Given the description of an element on the screen output the (x, y) to click on. 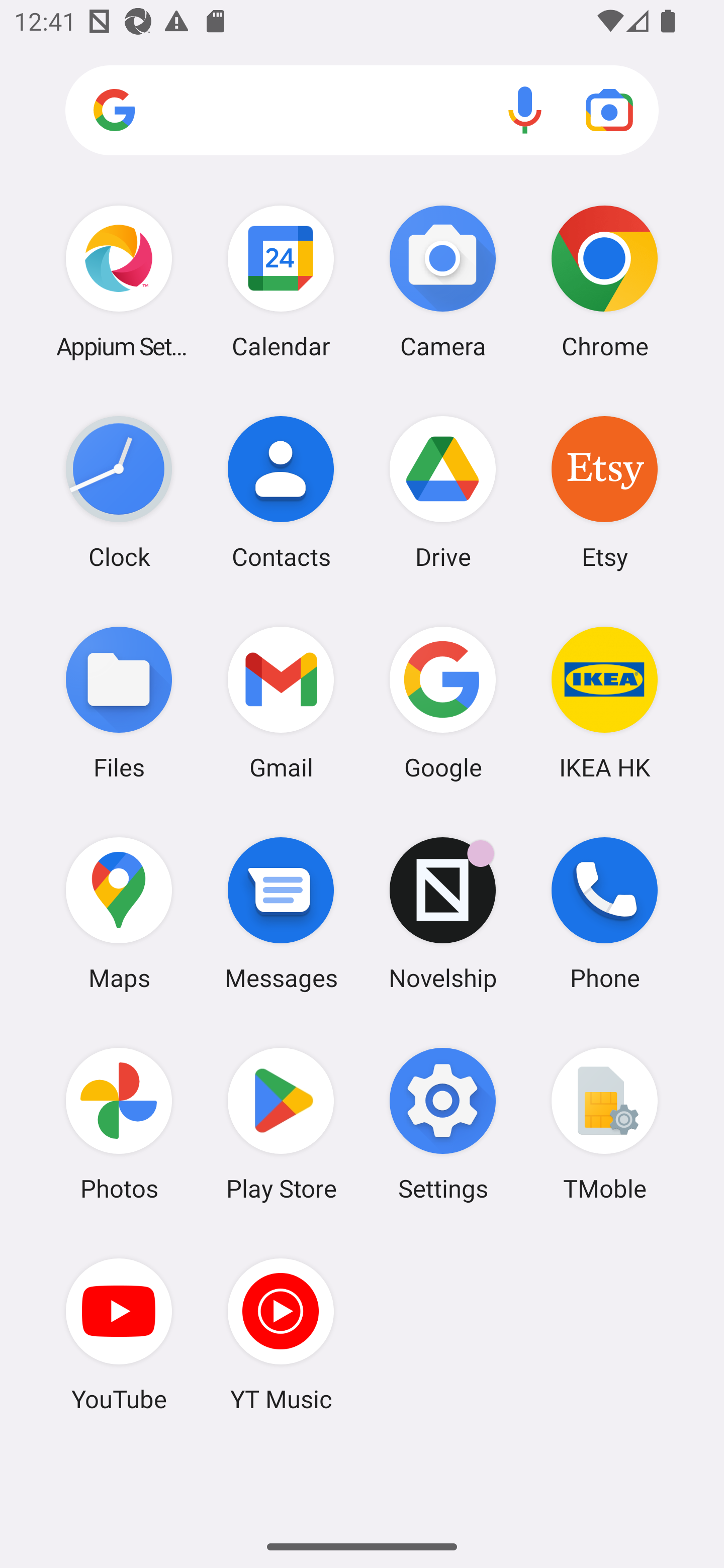
Search apps, web and more (361, 110)
Voice search (524, 109)
Google Lens (608, 109)
Appium Settings (118, 281)
Calendar (280, 281)
Camera (443, 281)
Chrome (604, 281)
Clock (118, 492)
Contacts (280, 492)
Drive (443, 492)
Etsy (604, 492)
Files (118, 702)
Gmail (280, 702)
Google (443, 702)
IKEA HK (604, 702)
Maps (118, 913)
Messages (280, 913)
Novelship Novelship has 7 notifications (443, 913)
Phone (604, 913)
Photos (118, 1124)
Play Store (280, 1124)
Settings (443, 1124)
TMoble (604, 1124)
YouTube (118, 1334)
YT Music (280, 1334)
